Given the description of an element on the screen output the (x, y) to click on. 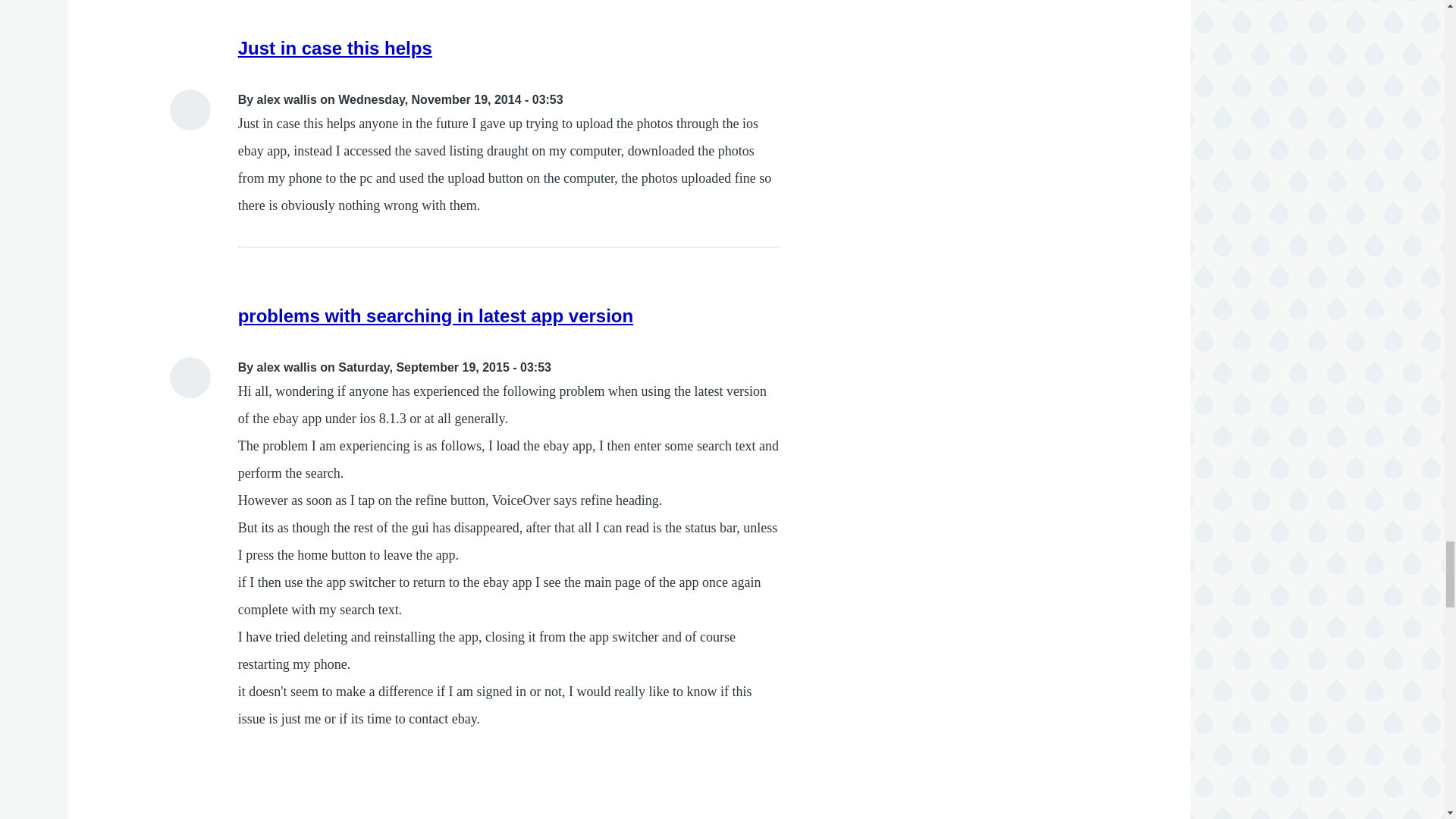
Just in case this helps (335, 47)
problems with searching in latest app version (435, 315)
